Given the description of an element on the screen output the (x, y) to click on. 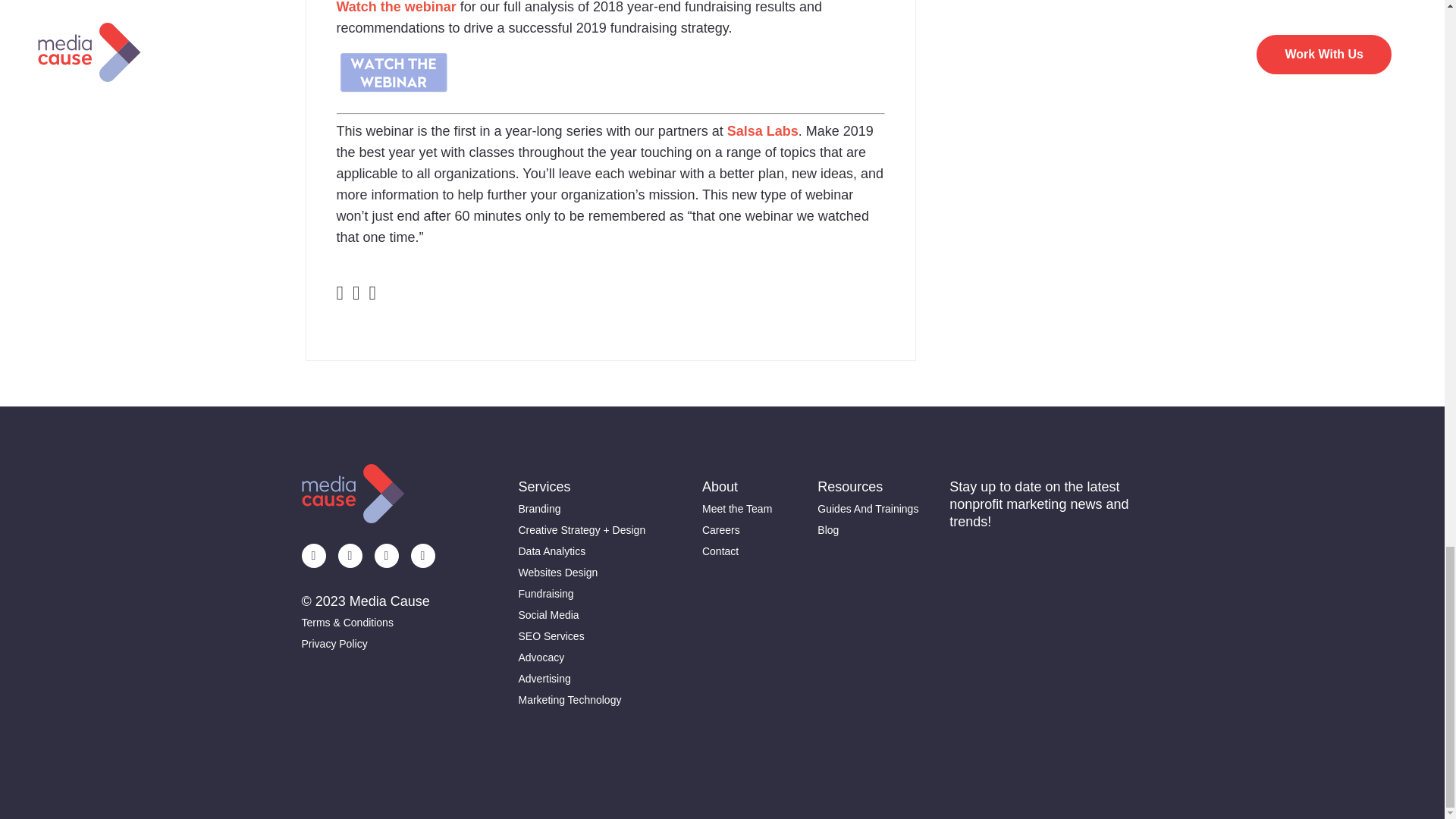
Privacy Policy (368, 643)
Branding (582, 508)
Salsa Labs (761, 130)
Watch the webinar (396, 7)
Data Analytics (582, 550)
Websites Design (582, 572)
